Given the description of an element on the screen output the (x, y) to click on. 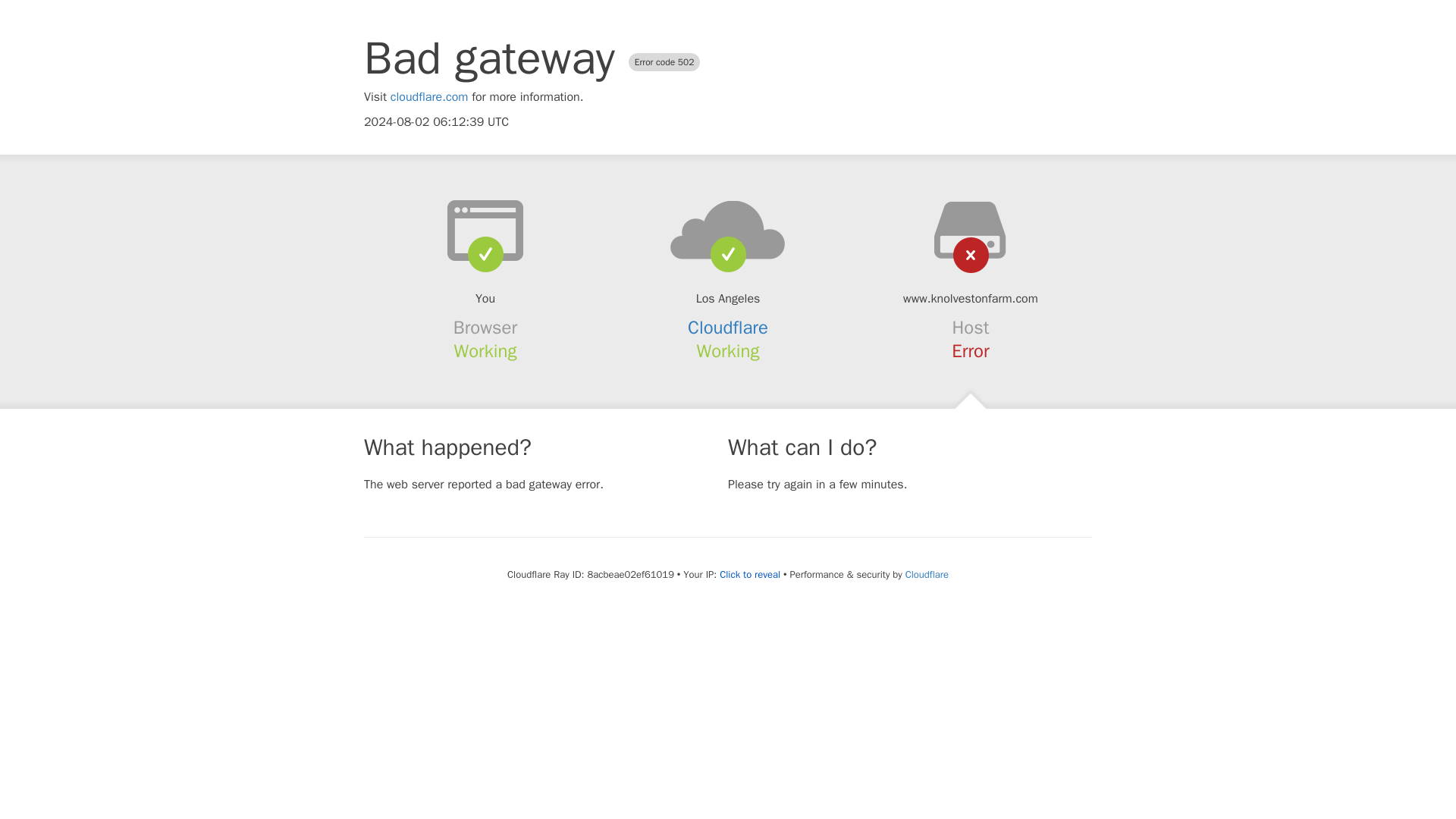
cloudflare.com (429, 96)
Cloudflare (927, 574)
Click to reveal (749, 574)
Cloudflare (727, 327)
